Given the description of an element on the screen output the (x, y) to click on. 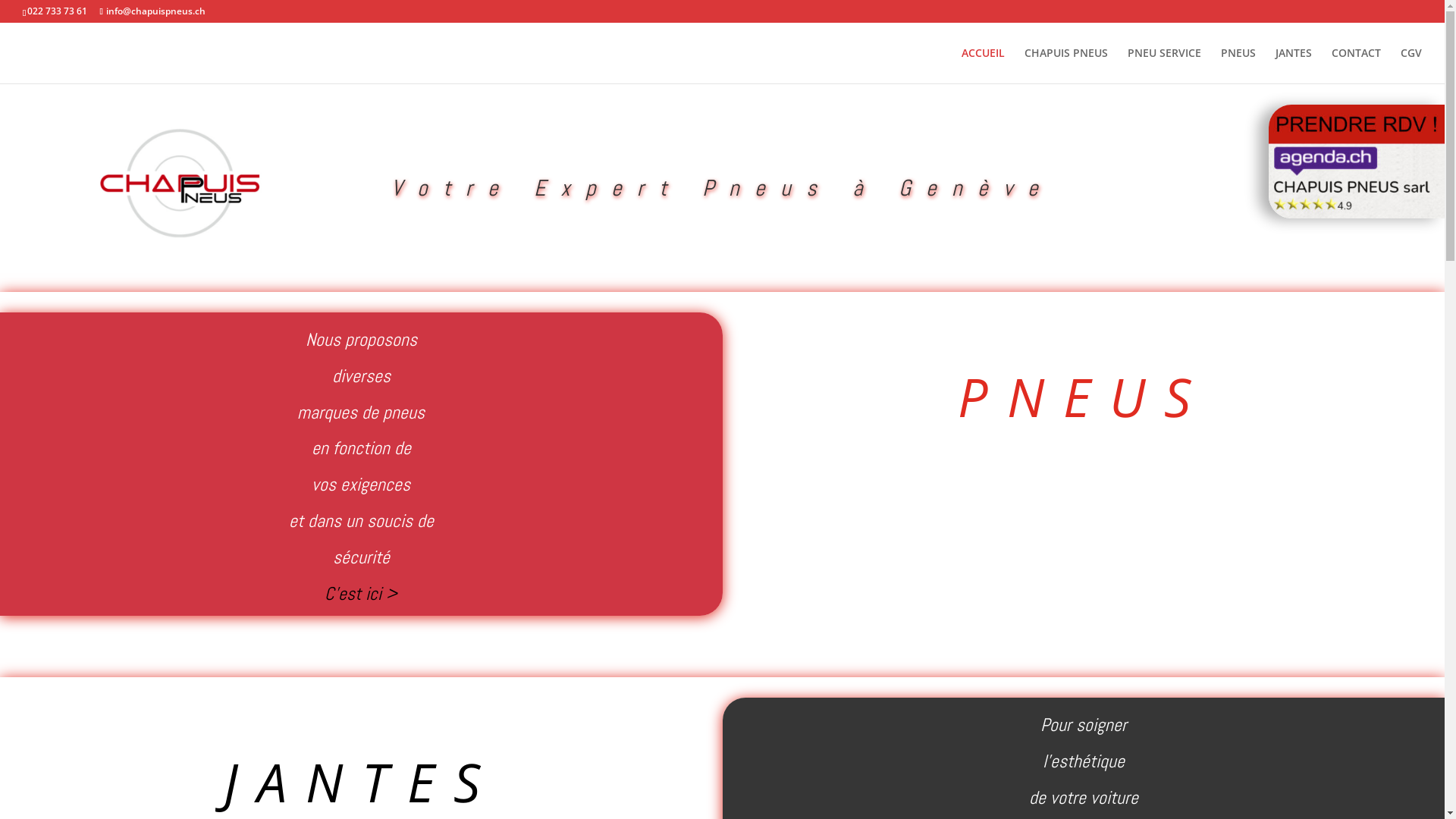
CONTACT Element type: text (1355, 65)
icone2 Element type: hover (180, 187)
CGV Element type: text (1410, 65)
PNEU SERVICE Element type: text (1164, 65)
JANTES Element type: text (1293, 65)
agenda-chapuis Element type: hover (1356, 161)
CHAPUIS PNEUS Element type: text (1065, 65)
PNEUS Element type: text (1237, 65)
ACCUEIL Element type: text (982, 65)
info@chapuispneus.ch Element type: text (151, 10)
